Given the description of an element on the screen output the (x, y) to click on. 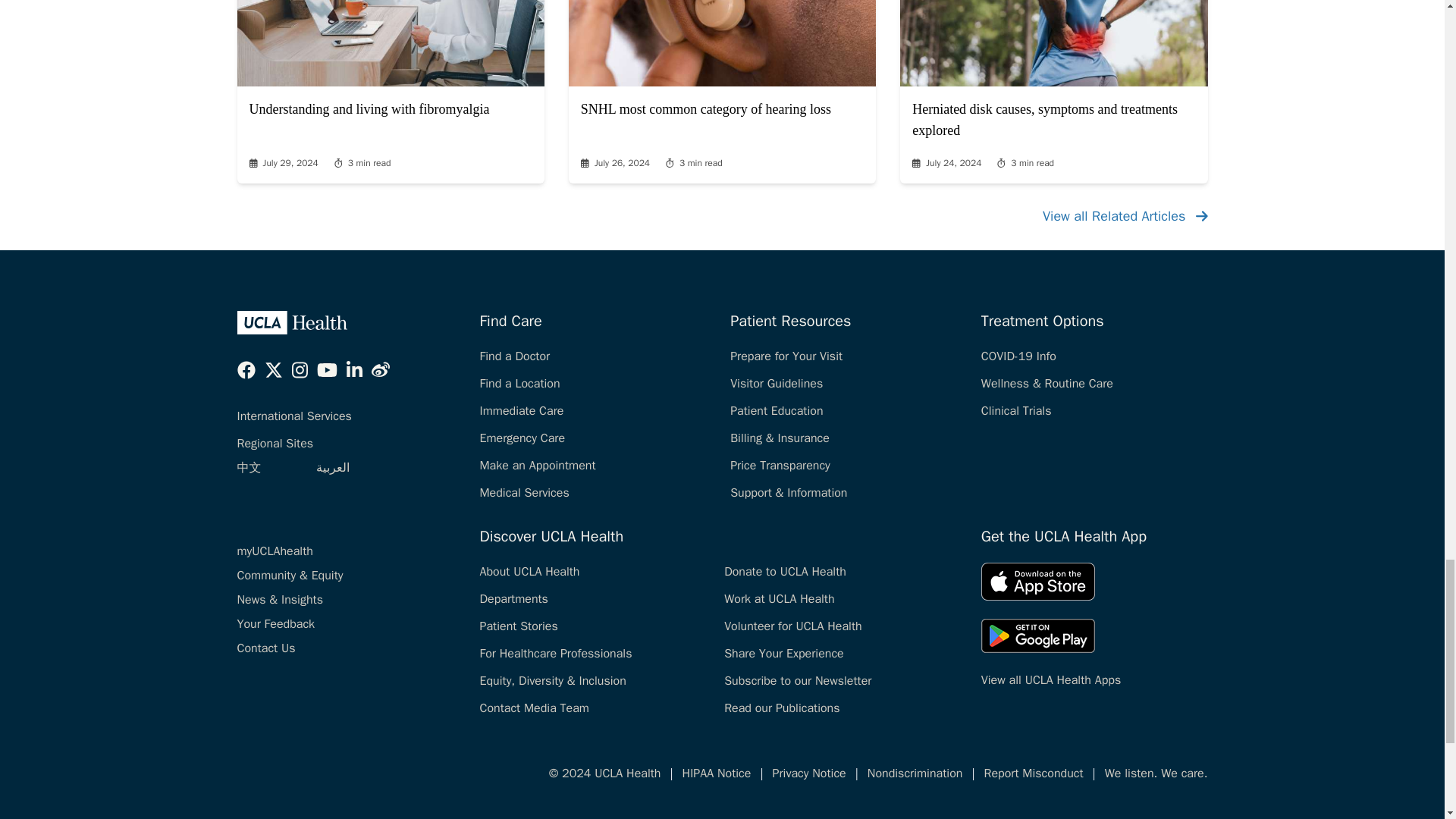
myUCLAhealth Login. (274, 550)
